Given the description of an element on the screen output the (x, y) to click on. 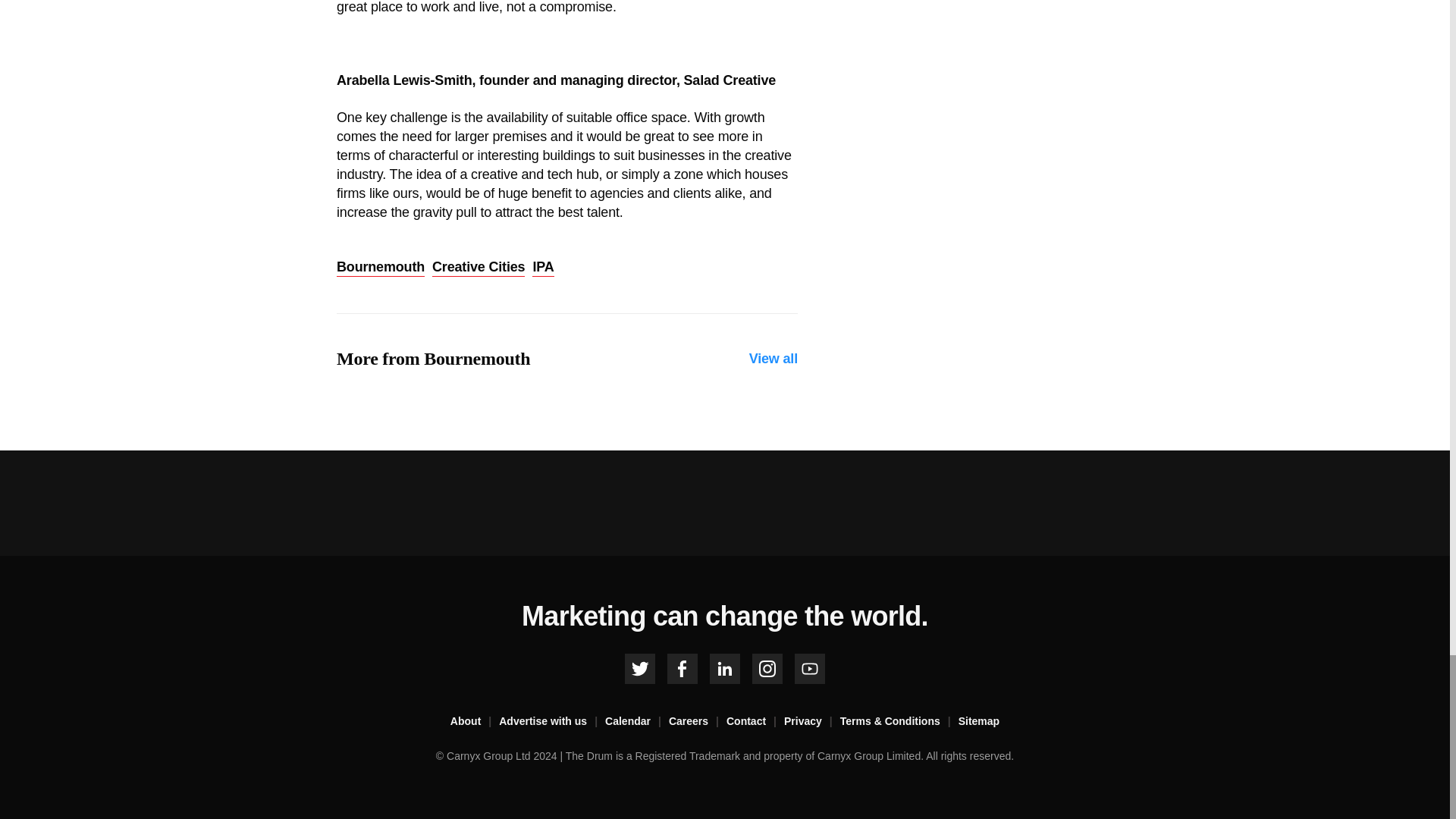
IPA (542, 267)
View all (773, 358)
Advertise with us (552, 721)
About (474, 721)
Creative Cities (478, 267)
Calendar (636, 721)
Bournemouth (380, 267)
Careers (697, 721)
